Given the description of an element on the screen output the (x, y) to click on. 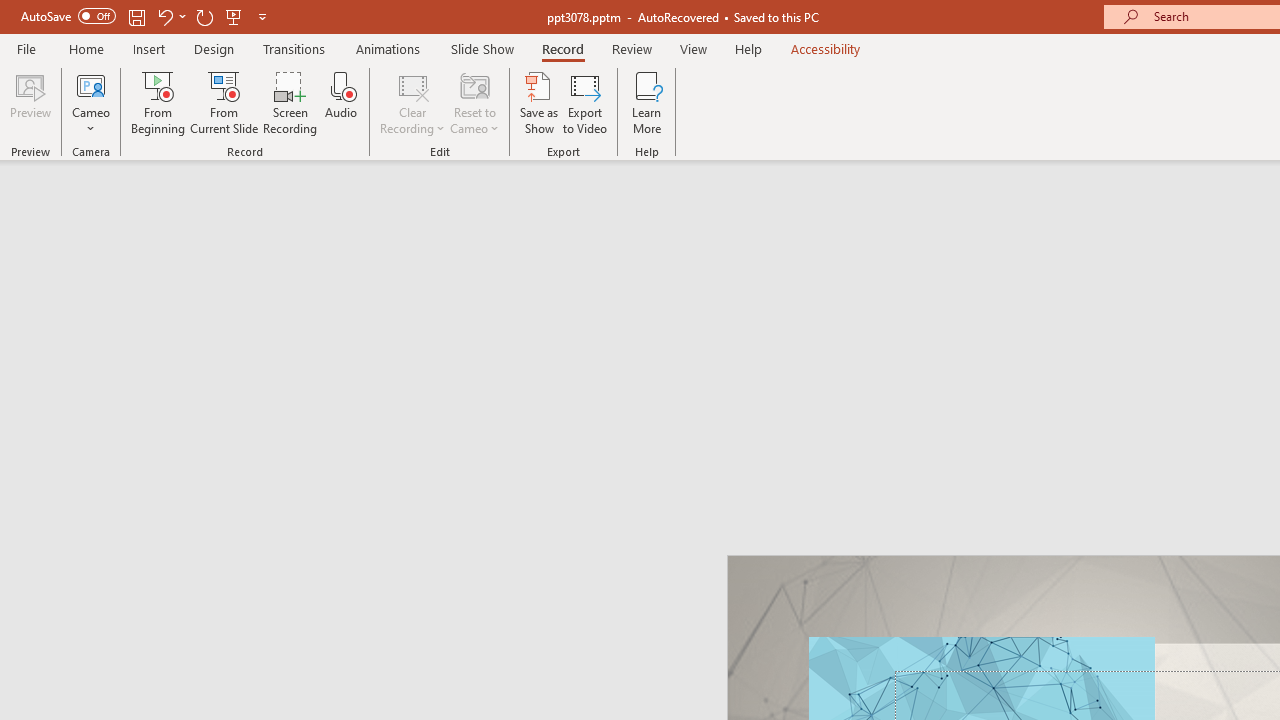
Help (748, 48)
Learn More (646, 102)
Cameo (91, 84)
Audio (341, 102)
Accessibility (825, 48)
More Options (91, 121)
